Given the description of an element on the screen output the (x, y) to click on. 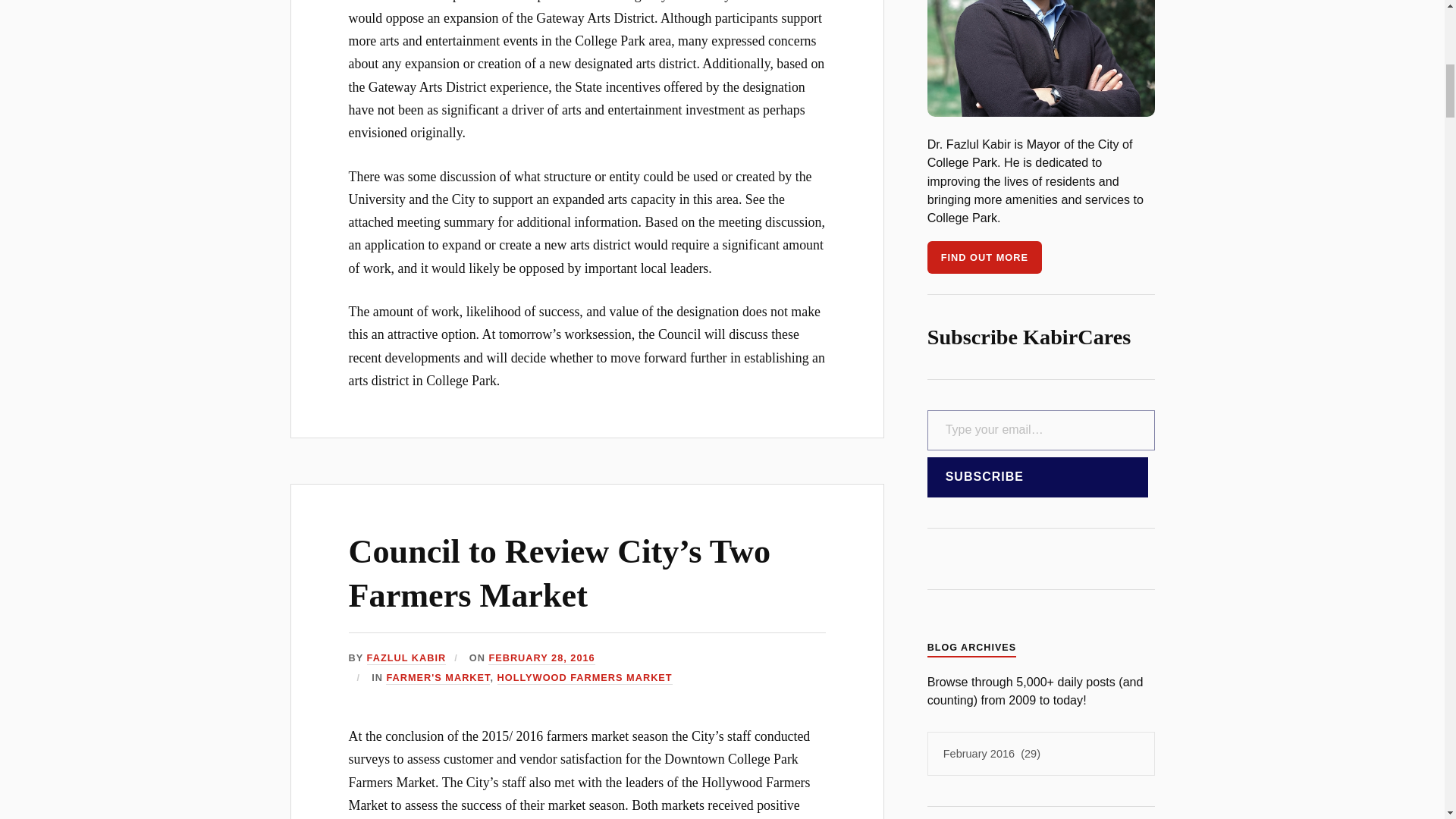
FEBRUARY 28, 2016 (540, 658)
Please fill in this field. (1040, 430)
HOLLYWOOD FARMERS MARKET (584, 677)
FAZLUL KABIR (406, 658)
Posts by Fazlul Kabir (406, 658)
FARMER'S MARKET (437, 677)
